Given the description of an element on the screen output the (x, y) to click on. 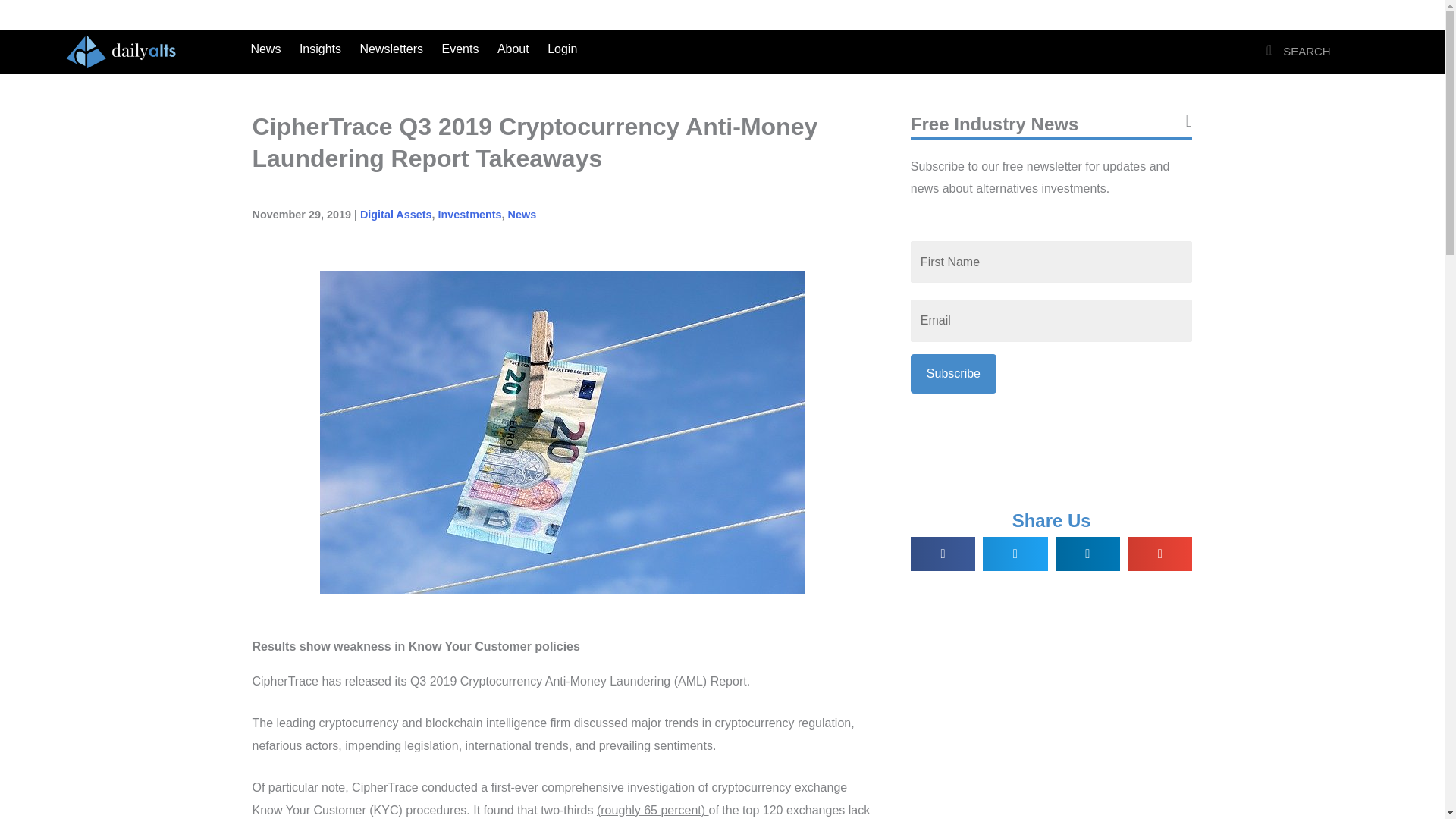
Digital Assets (395, 214)
About (513, 48)
News (522, 214)
Events (459, 48)
Daily Alts Assets 02 (121, 51)
Login (562, 48)
News (265, 48)
Investments (470, 214)
Subscribe (953, 373)
Newsletters (391, 48)
